Given the description of an element on the screen output the (x, y) to click on. 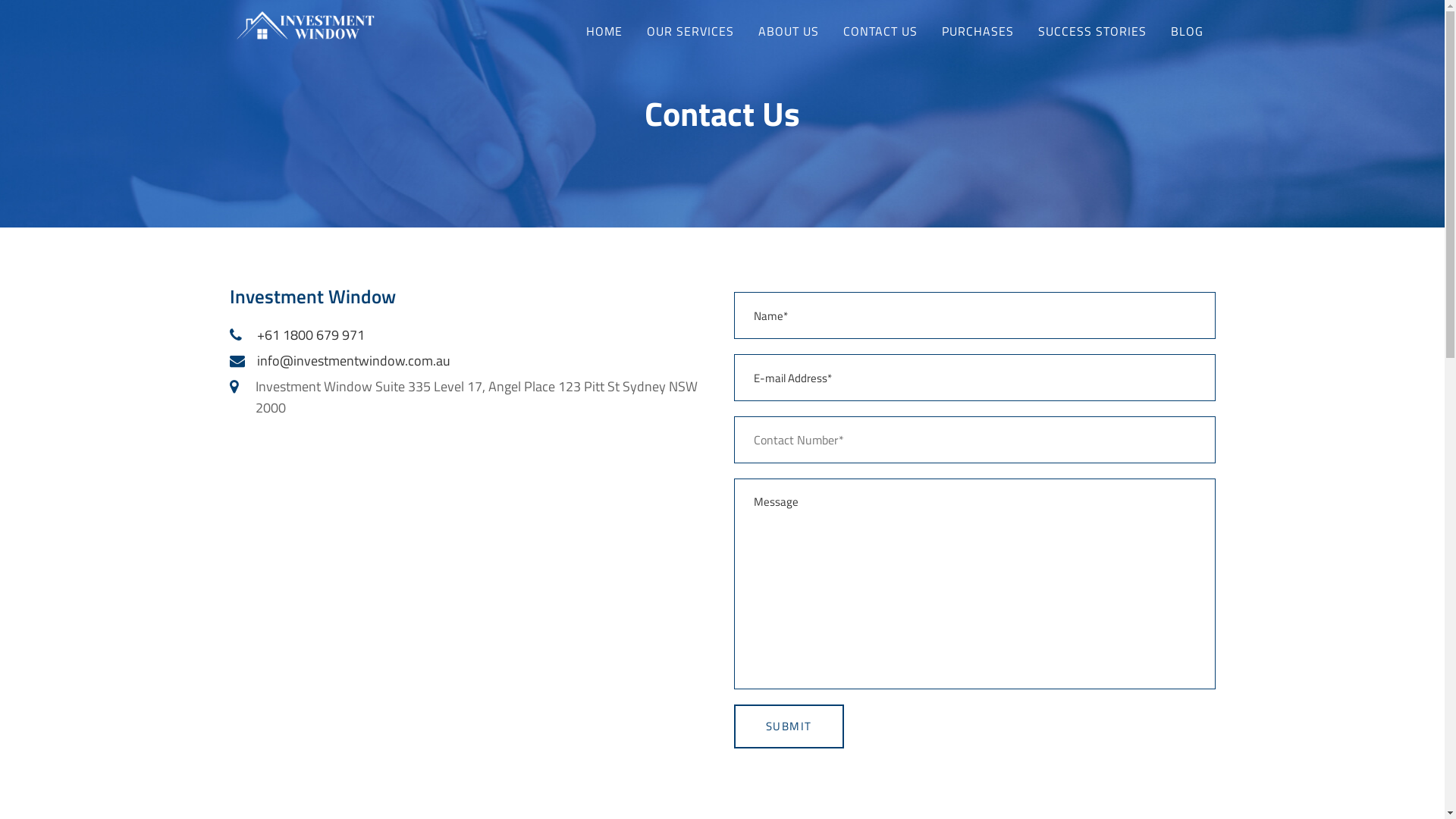
PURCHASES Element type: text (977, 30)
CONTACT US Element type: text (880, 30)
ABOUT US Element type: text (788, 30)
SUCCESS STORIES Element type: text (1091, 30)
OUR SERVICES Element type: text (689, 30)
BLOG Element type: text (1186, 30)
Submit Element type: text (789, 726)
+61 1800 679 971 Element type: text (310, 334)
HOME Element type: text (603, 30)
info@investmentwindow.com.au Element type: text (352, 360)
